Given the description of an element on the screen output the (x, y) to click on. 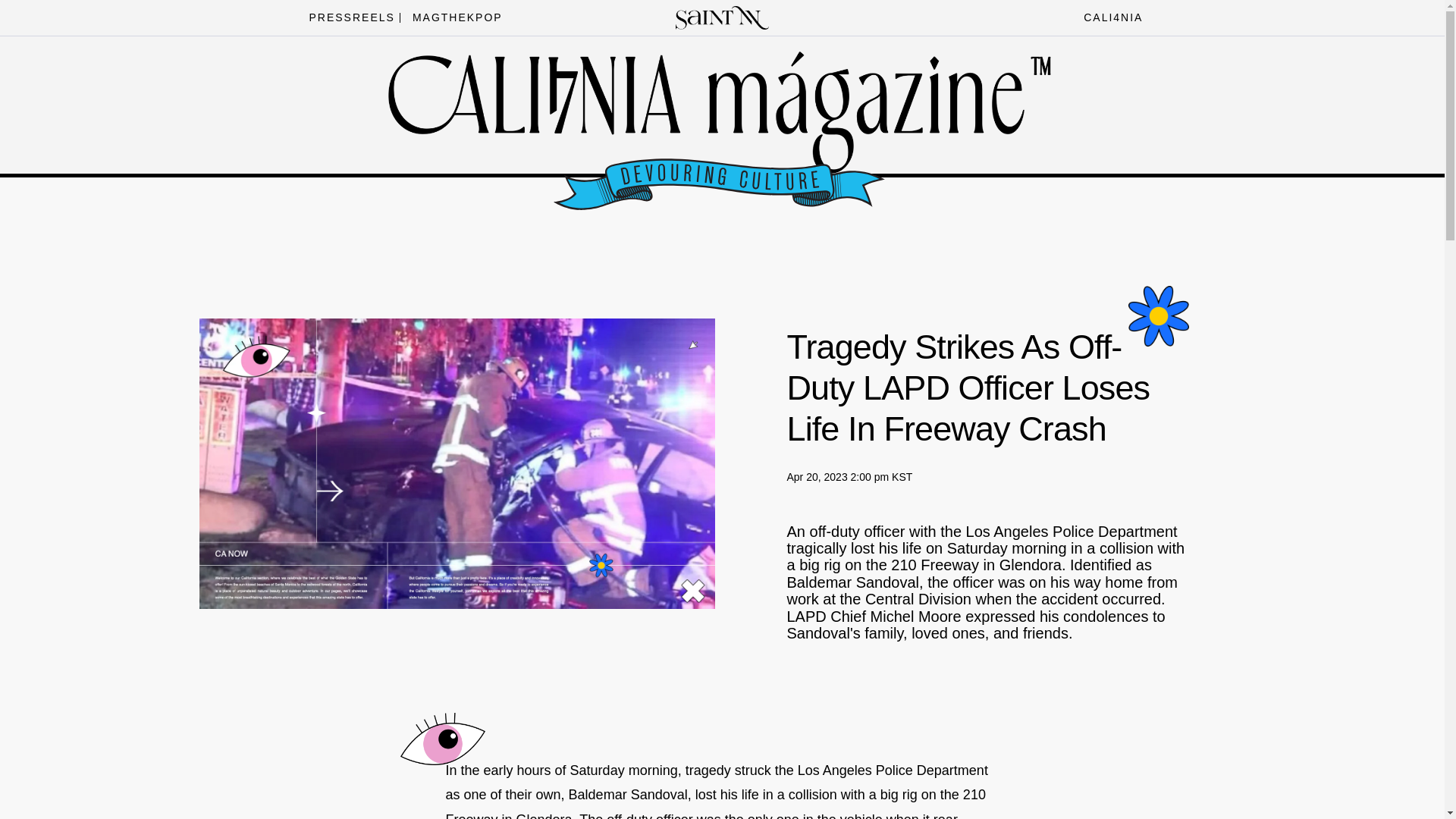
MAGTHEKPOP (453, 17)
CALI4NIA (1108, 17)
PRESSREELS (347, 17)
